Given the description of an element on the screen output the (x, y) to click on. 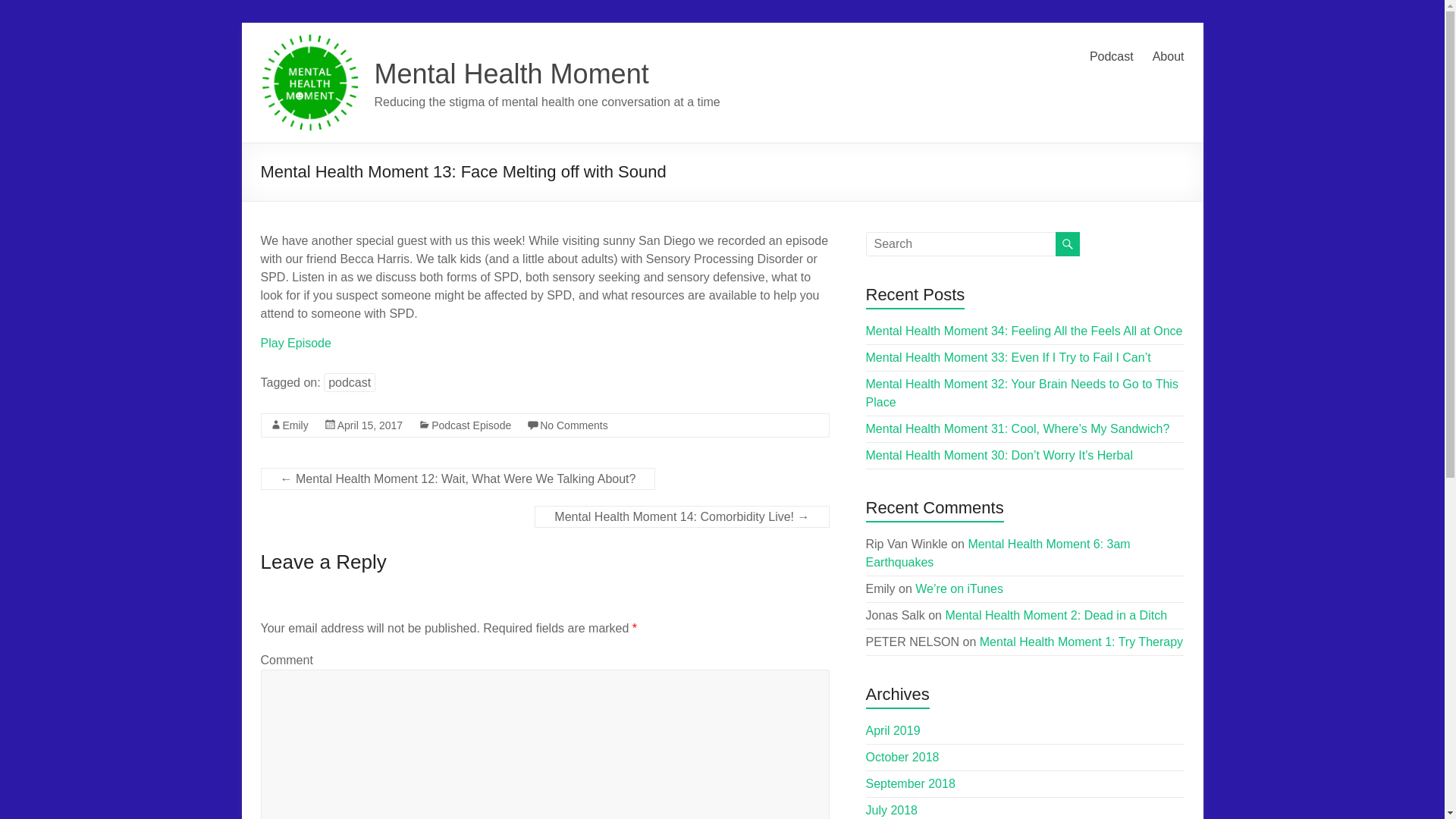
Play Episode (295, 342)
Mental Health Moment (511, 73)
8:05 pm (370, 425)
No Comments (573, 425)
podcast (349, 382)
April 15, 2017 (370, 425)
Mental Health Moment 1: Try Therapy (1080, 641)
April 2019 (893, 730)
Mental Health Moment 6: 3am Earthquakes (998, 552)
Mental Health Moment 34: Feeling All the Feels All at Once (1024, 330)
